Given the description of an element on the screen output the (x, y) to click on. 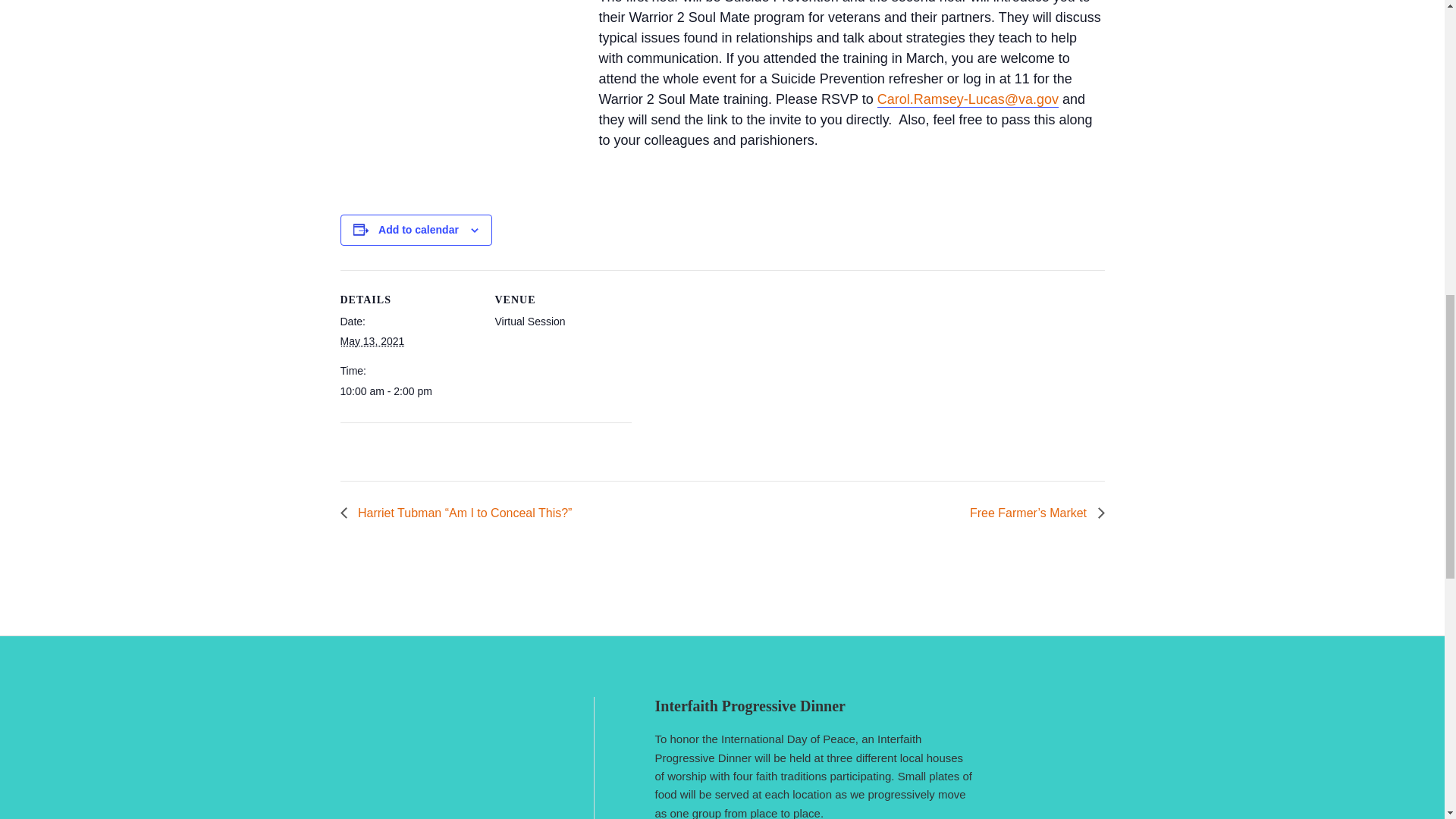
2021-05-13 (407, 391)
2021-05-13 (371, 340)
